Given the description of an element on the screen output the (x, y) to click on. 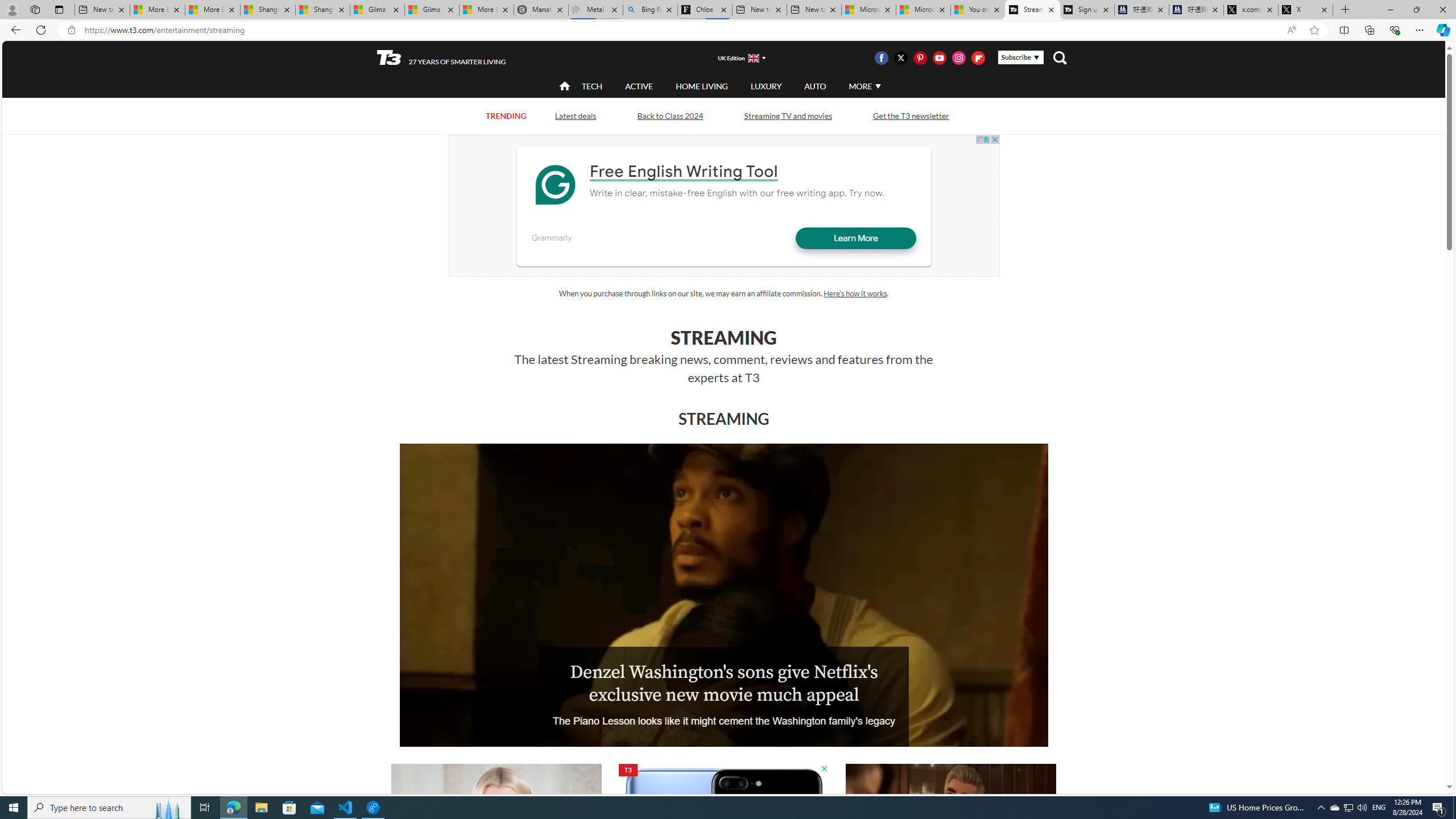
ACTIVE (638, 86)
TECH (591, 85)
T3 27 YEARS OF SMARTER LIVING (441, 57)
Streaming Coverage | T3 (1032, 9)
flag of UK (752, 57)
Chloe Sorvino (704, 9)
Visit us on Flipboard (978, 57)
AUTO (815, 86)
Class: svg-arrow-down (877, 86)
Back to Class 2024 (670, 115)
